Given the description of an element on the screen output the (x, y) to click on. 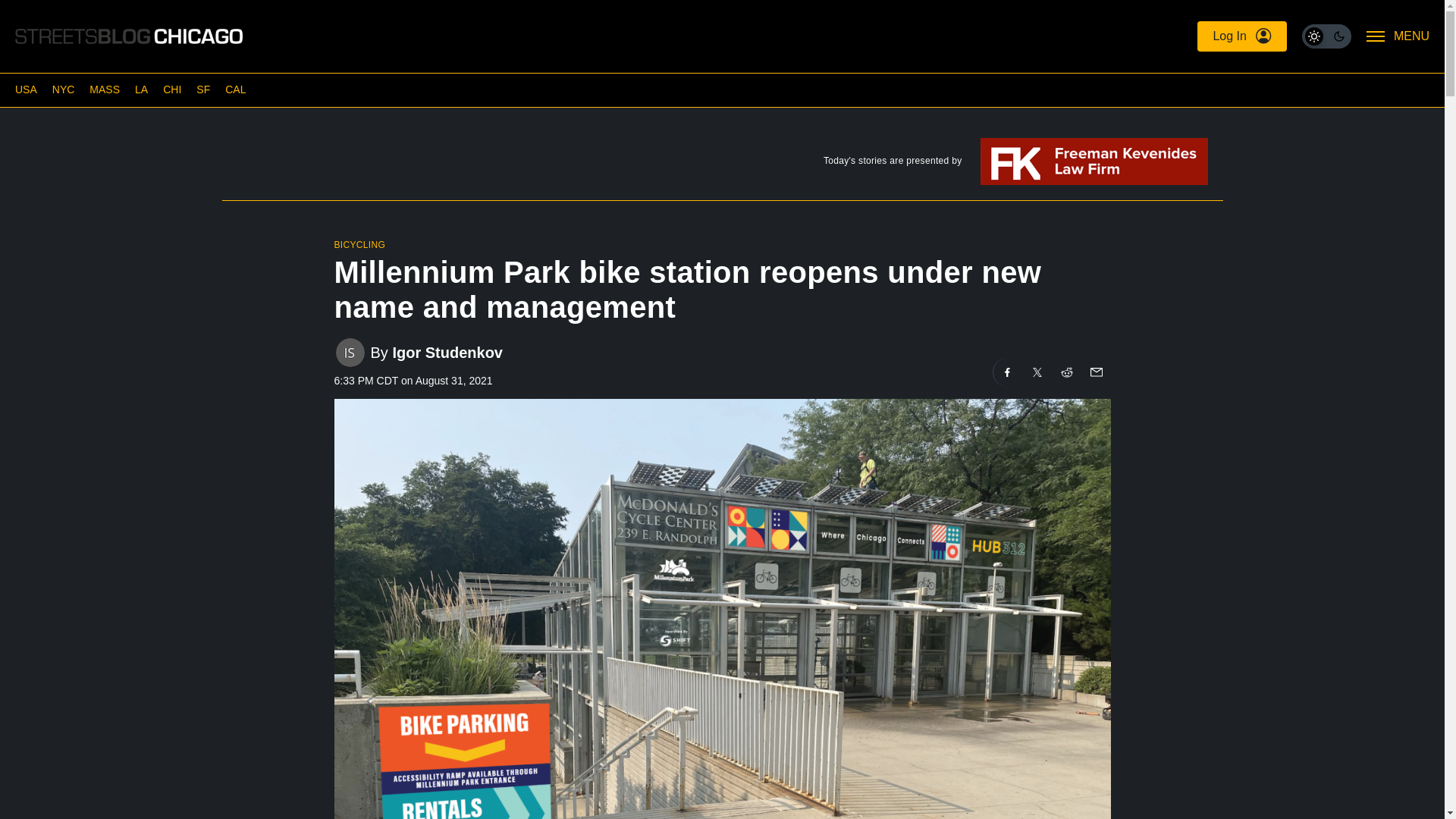
Share on Email (1095, 371)
CHI (171, 89)
CAL (235, 89)
Igor Studenkov (446, 352)
Share on Reddit (1066, 371)
MENU (1398, 36)
NYC (63, 89)
Log In (1240, 36)
Today's stories are presented by (721, 164)
MASS (103, 89)
